Given the description of an element on the screen output the (x, y) to click on. 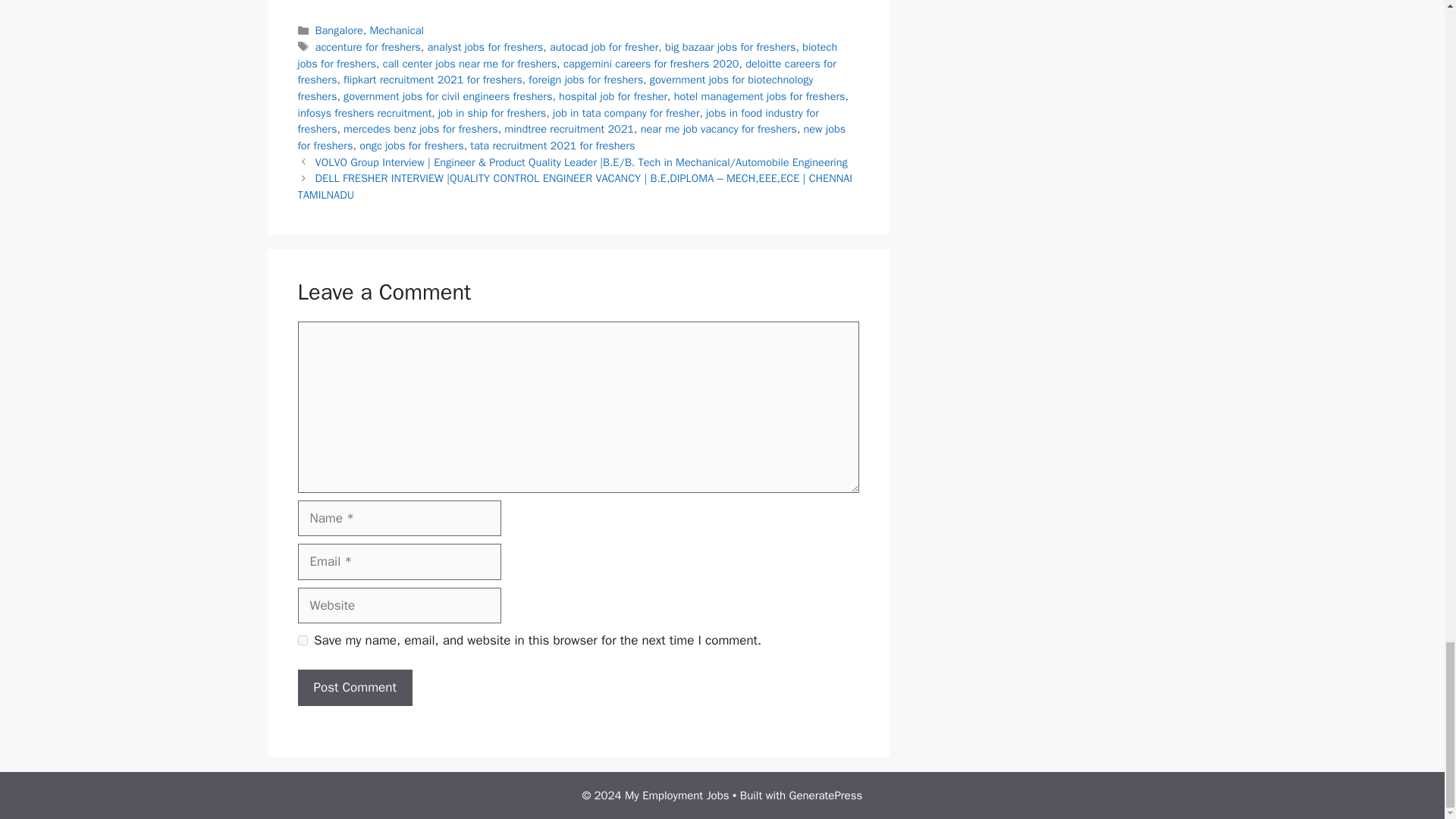
Post Comment (354, 687)
yes (302, 640)
